Given the description of an element on the screen output the (x, y) to click on. 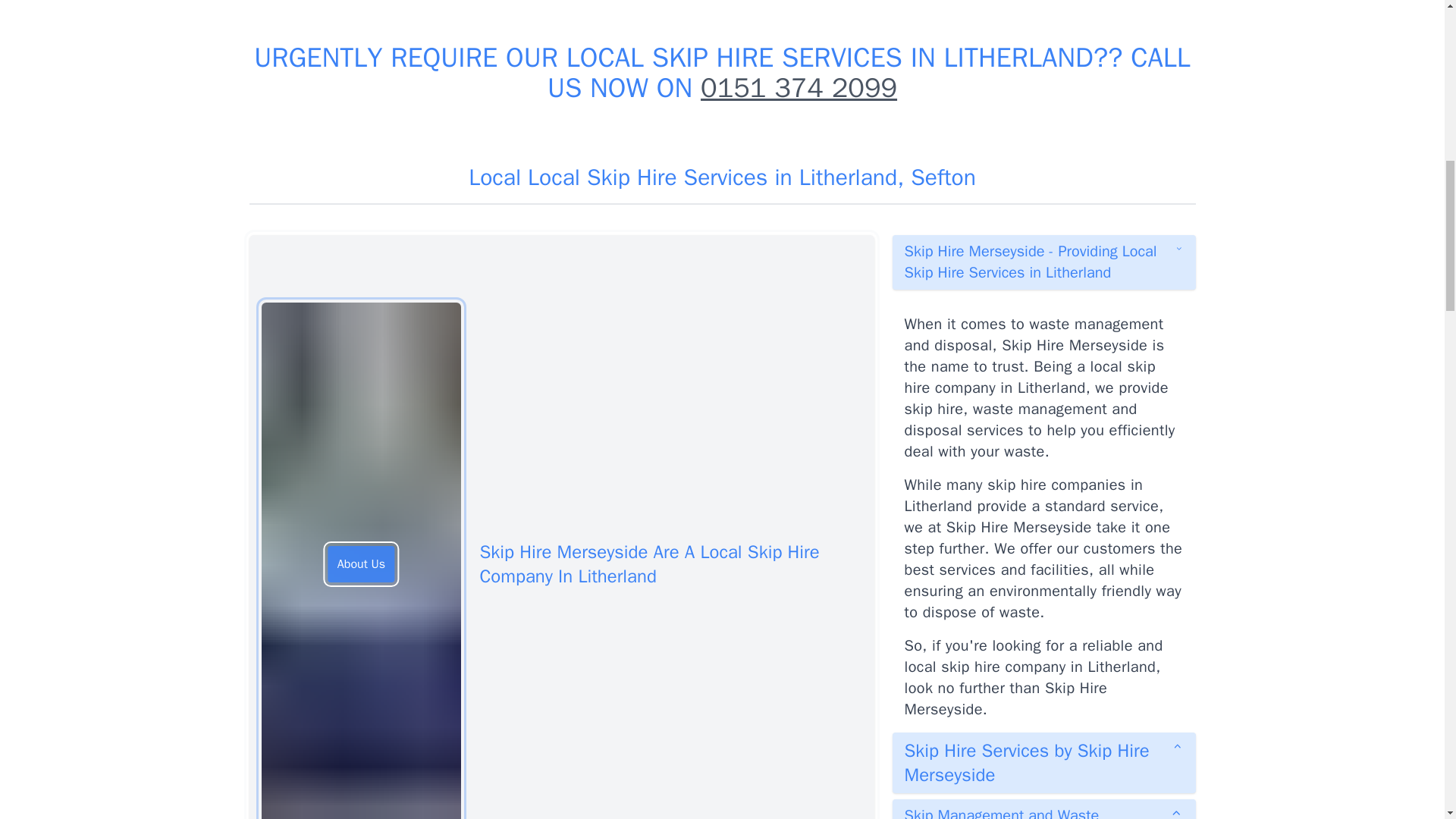
0151 374 2099 (798, 87)
About Us (361, 564)
Skip Hire Services by Skip Hire Merseyside (1043, 762)
Skip Management and Waste Management (1043, 809)
